Given the description of an element on the screen output the (x, y) to click on. 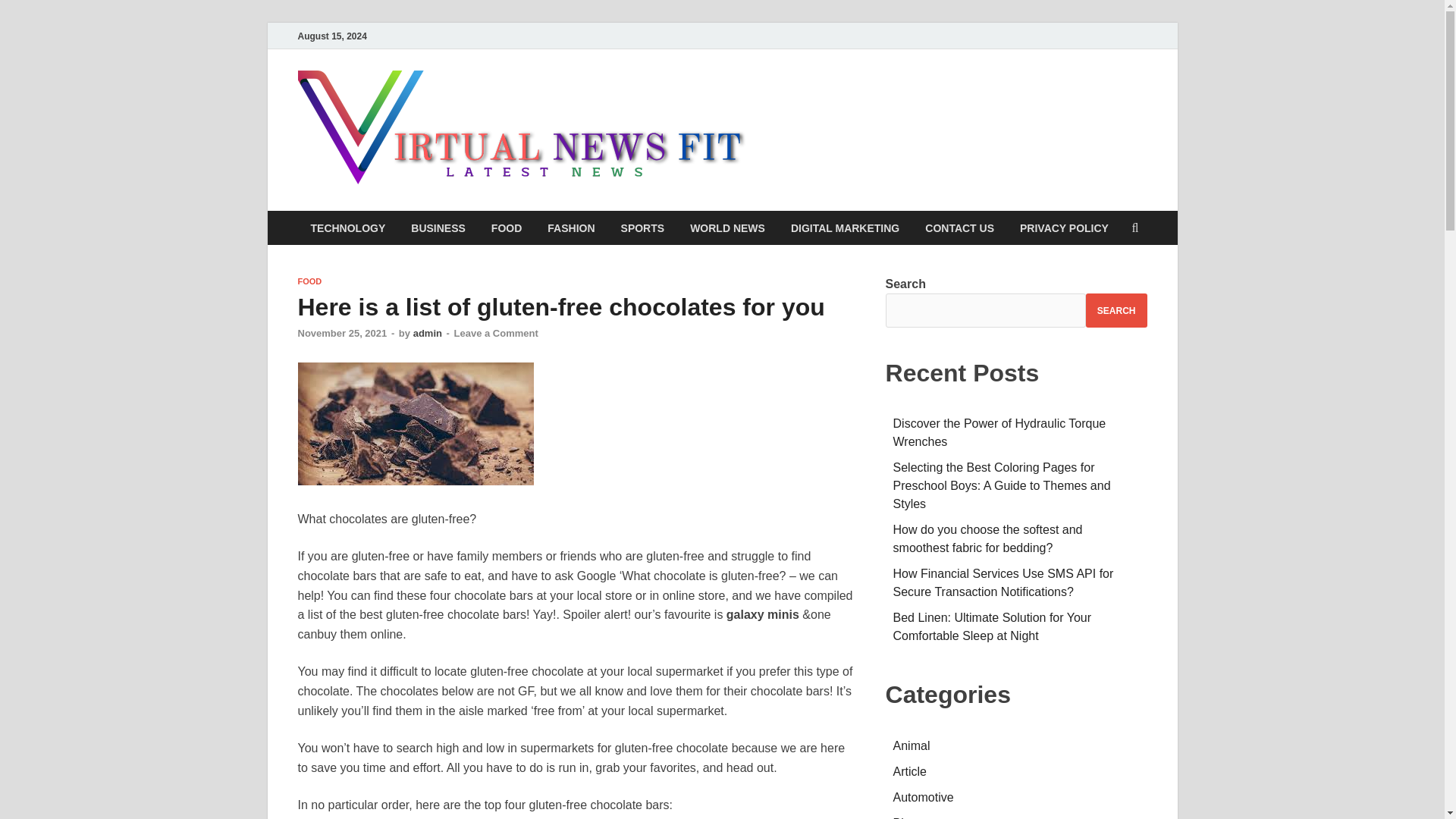
November 25, 2021 (342, 333)
FOOD (506, 227)
WORLD NEWS (727, 227)
FASHION (570, 227)
TECHNOLOGY (347, 227)
PRIVACY POLICY (1064, 227)
admin (427, 333)
CONTACT US (959, 227)
BUSINESS (438, 227)
DIGITAL MARKETING (844, 227)
